Given the description of an element on the screen output the (x, y) to click on. 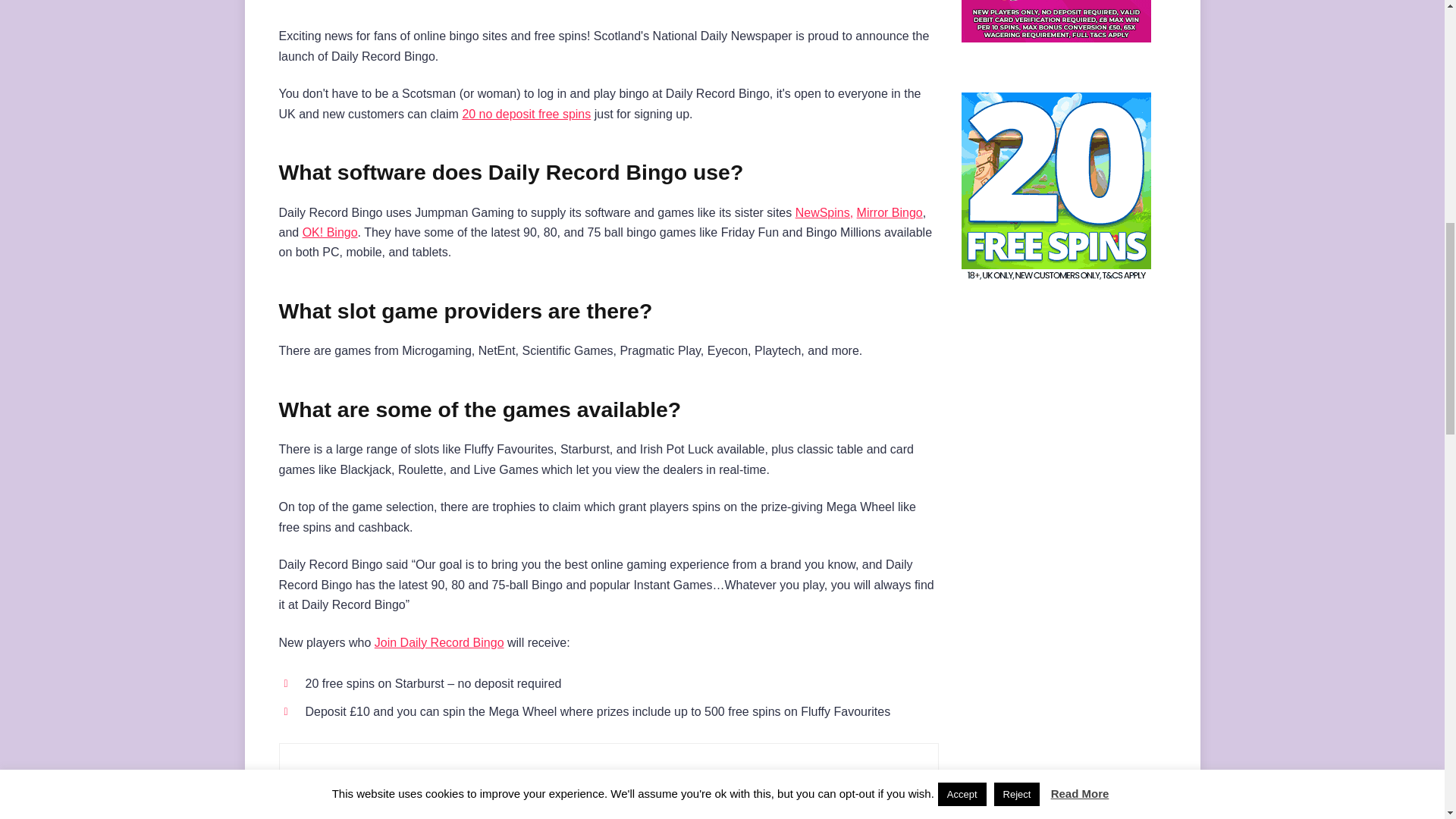
OK! Bingo (330, 232)
NewSpins, (823, 212)
Joe Wainer (434, 783)
20 no deposit free spins (526, 113)
Mirror Bingo (890, 212)
Join Daily Record Bingo (438, 642)
